Given the description of an element on the screen output the (x, y) to click on. 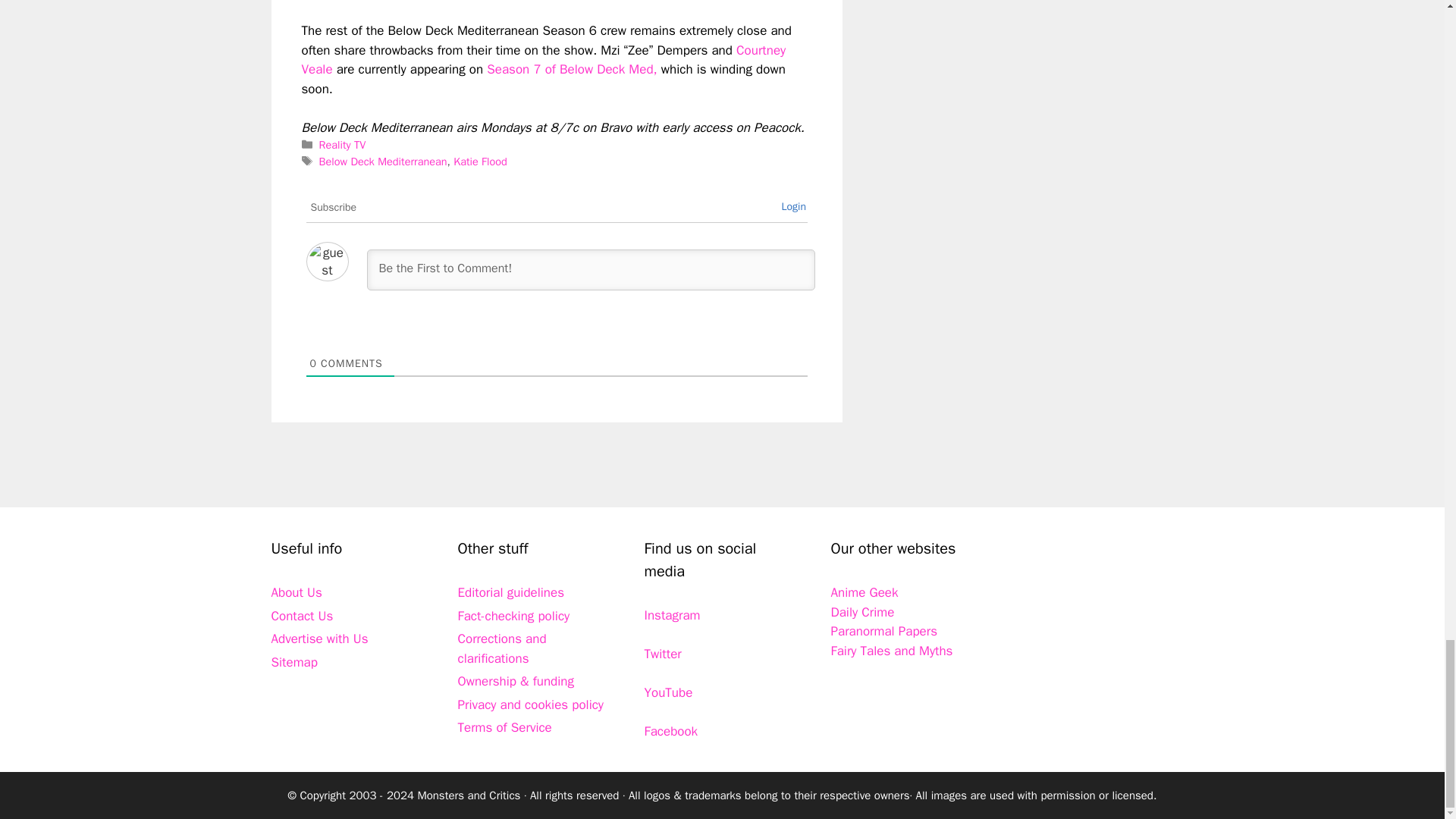
Fact-checking policy (514, 616)
Below Deck Mediterranean (382, 161)
Advertise with Us (319, 638)
Corrections and clarifications (502, 648)
Reality TV (342, 144)
Login (793, 205)
Contact Us (301, 616)
Season 7 of Below Deck Med, (573, 68)
Sitemap (293, 662)
Katie Flood (479, 161)
About Us (295, 592)
Privacy and cookies policy (531, 704)
Instagram (672, 615)
Courtney Veale (543, 59)
YouTube (669, 692)
